Given the description of an element on the screen output the (x, y) to click on. 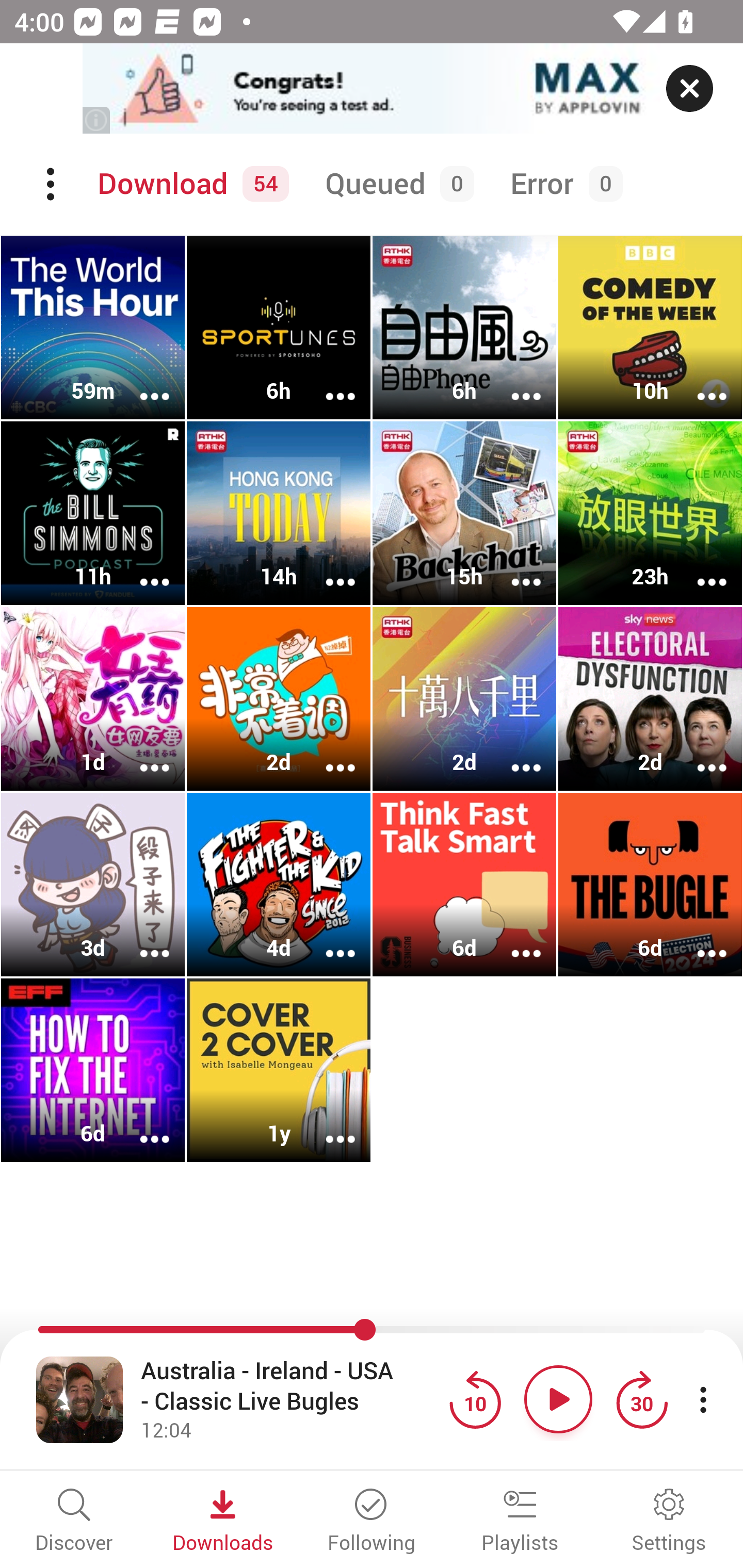
app-monetization (371, 88)
(i) (96, 119)
Menu (52, 184)
 Download 54 (189, 184)
 Queued 0 (396, 184)
 Error 0 (562, 184)
The World This Hour 59m More options More options (92, 327)
Sportunes HK 6h More options More options (278, 327)
自由风自由PHONE 6h More options More options (464, 327)
Comedy of the Week 10h More options More options (650, 327)
More options (141, 382)
More options (326, 382)
More options (512, 382)
More options (698, 382)
Hong Kong Today 14h More options More options (278, 513)
Backchat 15h More options More options (464, 513)
放眼世界 23h More options More options (650, 513)
More options (141, 569)
More options (326, 569)
More options (512, 569)
More options (698, 569)
女王有药丨爆笑脱口秀 1d More options More options (92, 698)
非常不着调 2d More options More options (278, 698)
十萬八千里 2d More options More options (464, 698)
Electoral Dysfunction 2d More options More options (650, 698)
More options (141, 754)
More options (326, 754)
More options (512, 754)
More options (698, 754)
段子来了 3d More options More options (92, 883)
The Fighter & The Kid 4d More options More options (278, 883)
The Bugle 6d More options More options (650, 883)
More options (141, 940)
More options (326, 940)
More options (512, 940)
More options (698, 940)
Cover 2 Cover 1y More options More options (278, 1069)
More options (141, 1125)
More options (326, 1125)
Open fullscreen player (79, 1399)
More player controls (703, 1399)
Australia - Ireland - USA - Classic Live Bugles (290, 1385)
Play button (558, 1398)
Jump back (475, 1399)
Jump forward (641, 1399)
Discover (74, 1521)
Downloads (222, 1521)
Following (371, 1521)
Playlists (519, 1521)
Settings (668, 1521)
